Given the description of an element on the screen output the (x, y) to click on. 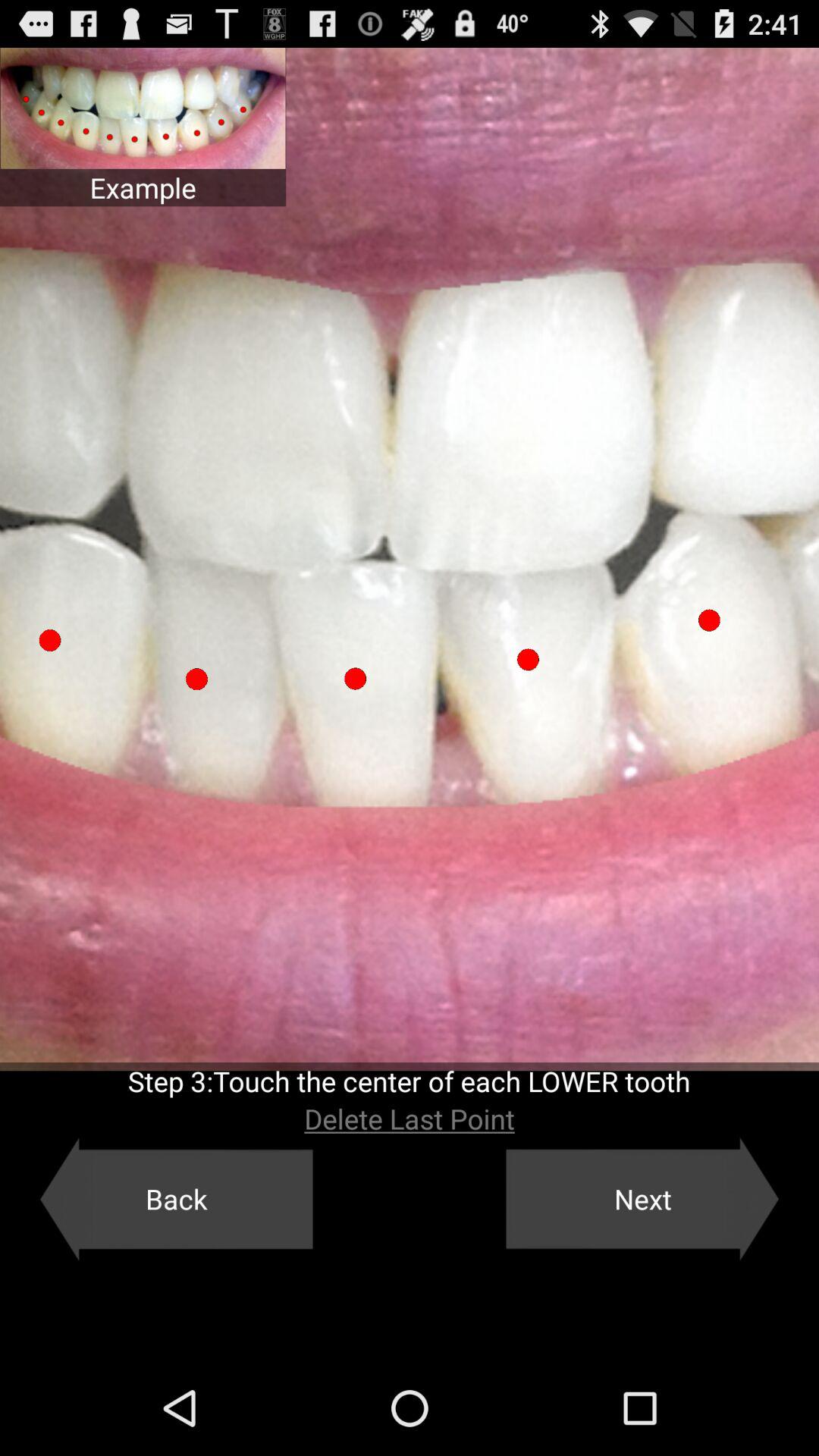
launch next item (642, 1198)
